Given the description of an element on the screen output the (x, y) to click on. 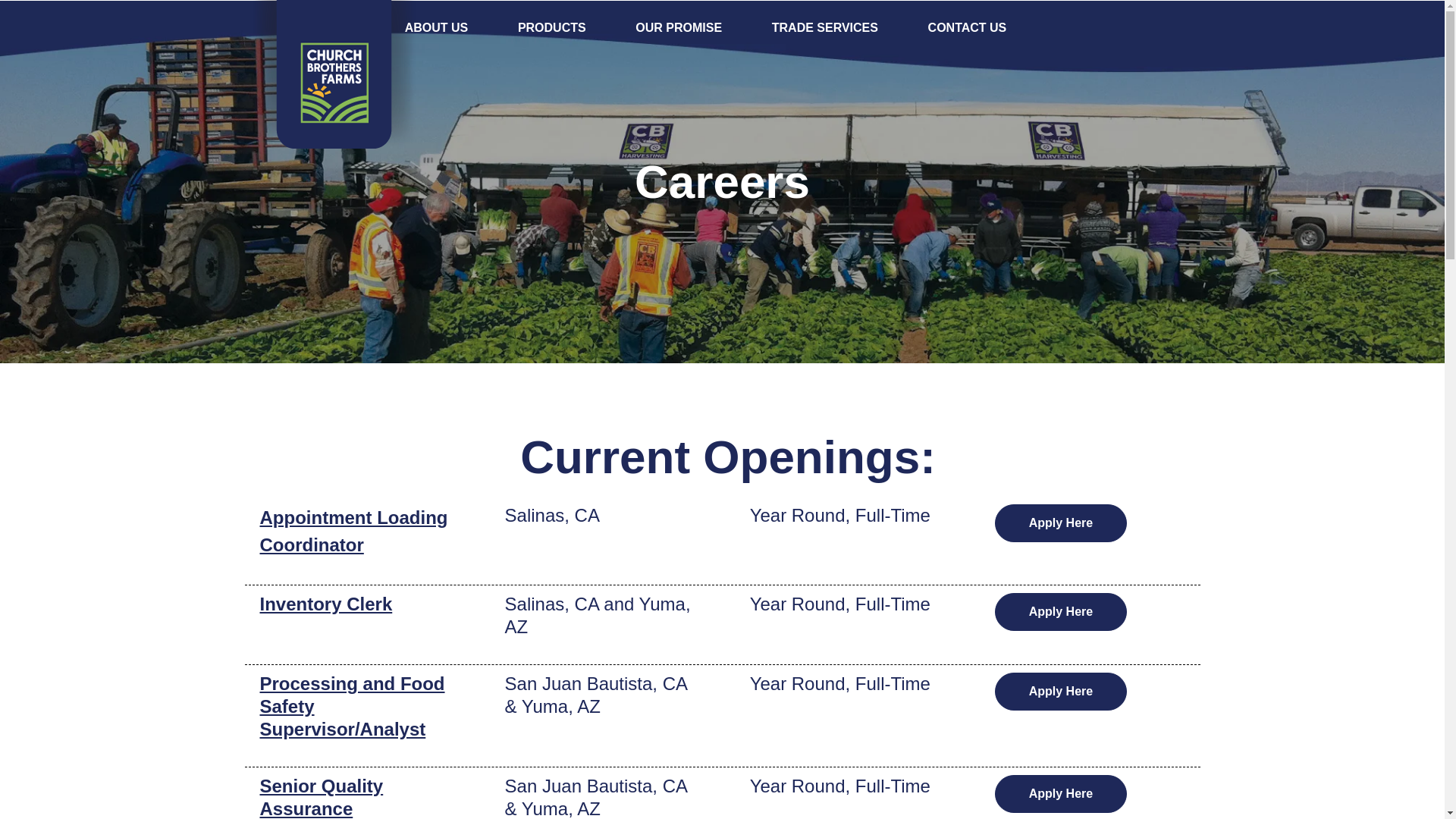
CONTACT US (967, 27)
Senior Quality Assurance Supervisor (320, 797)
ABOUT US (436, 27)
Apply Here (1060, 793)
Apply Here (1060, 523)
PRODUCTS (552, 27)
logo-banner (338, 74)
Apply Here (1060, 691)
TRADE SERVICES (824, 27)
Appointment Loading Coordinator (352, 530)
Inventory Clerk (325, 603)
OUR PROMISE (678, 27)
Apply Here (1060, 611)
